Given the description of an element on the screen output the (x, y) to click on. 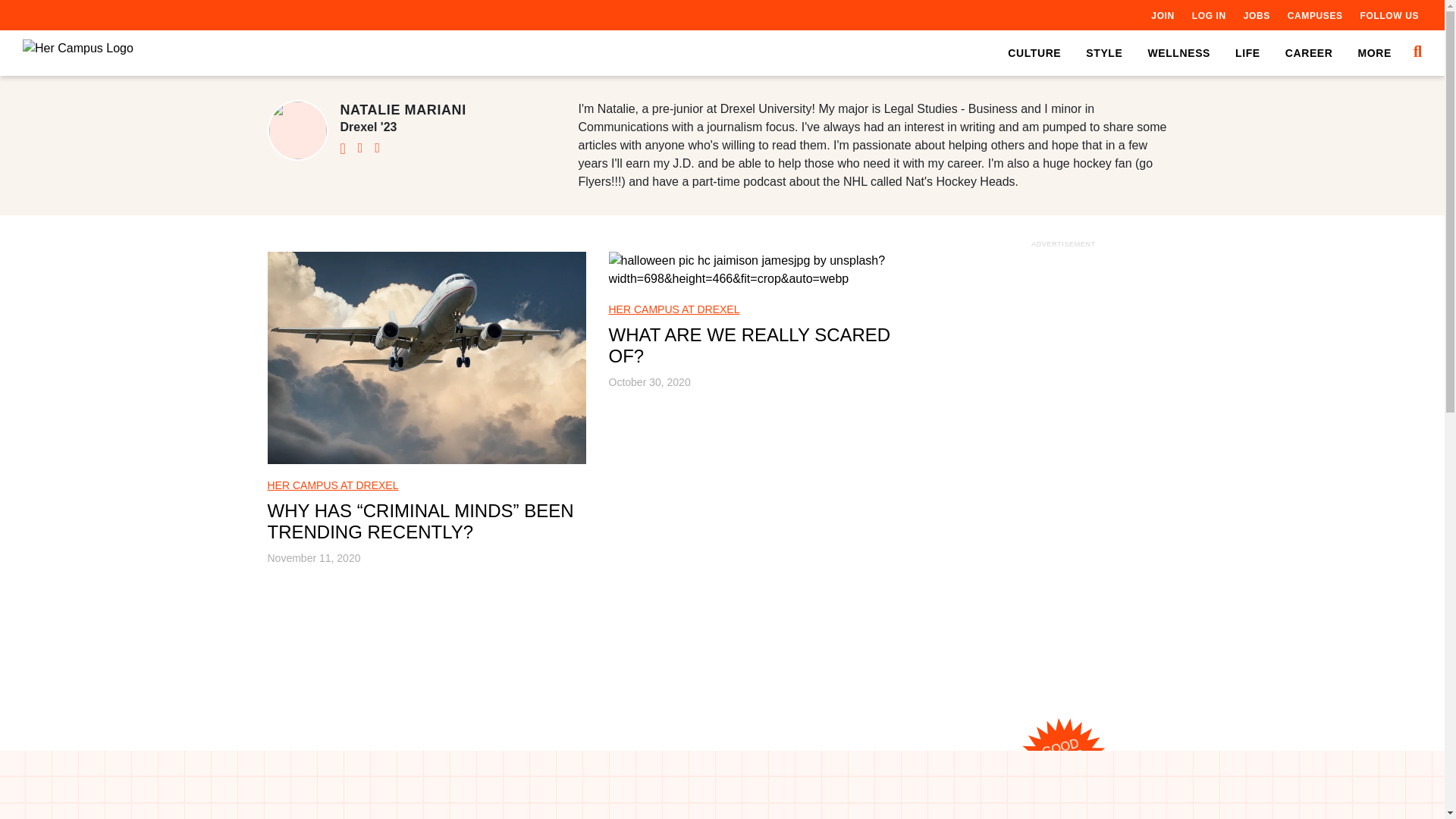
JOBS (1256, 15)
LOG IN (1208, 15)
JOIN (1162, 15)
What are we really scared of? 2 (767, 269)
CAMPUSES (1314, 15)
